Given the description of an element on the screen output the (x, y) to click on. 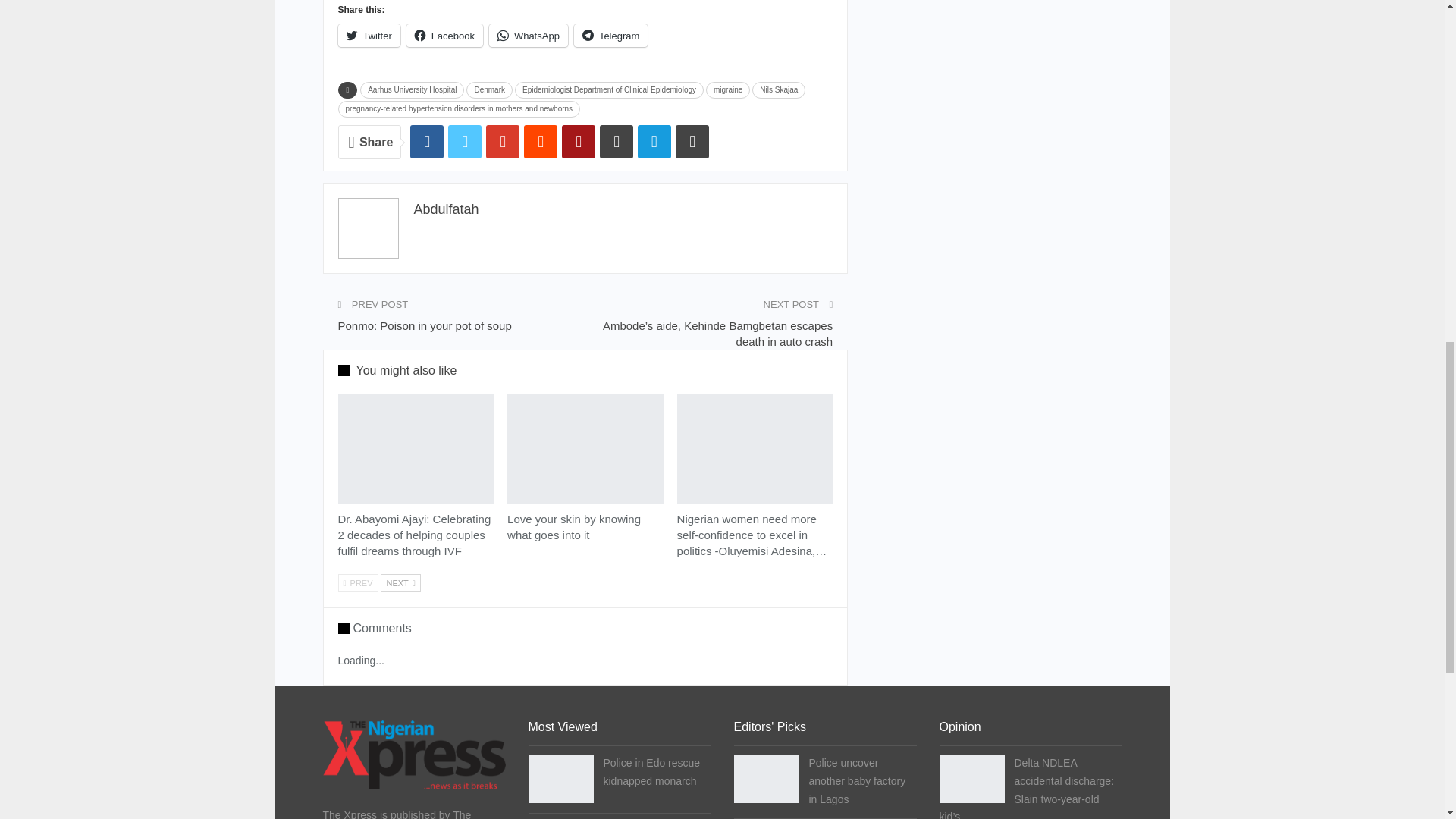
Click to share on Twitter (368, 35)
Love your skin by knowing what goes into it (584, 448)
Click to share on Facebook (444, 35)
Click to share on Telegram (610, 35)
Love your skin by knowing what goes into it (573, 526)
Click to share on WhatsApp (528, 35)
